Given the description of an element on the screen output the (x, y) to click on. 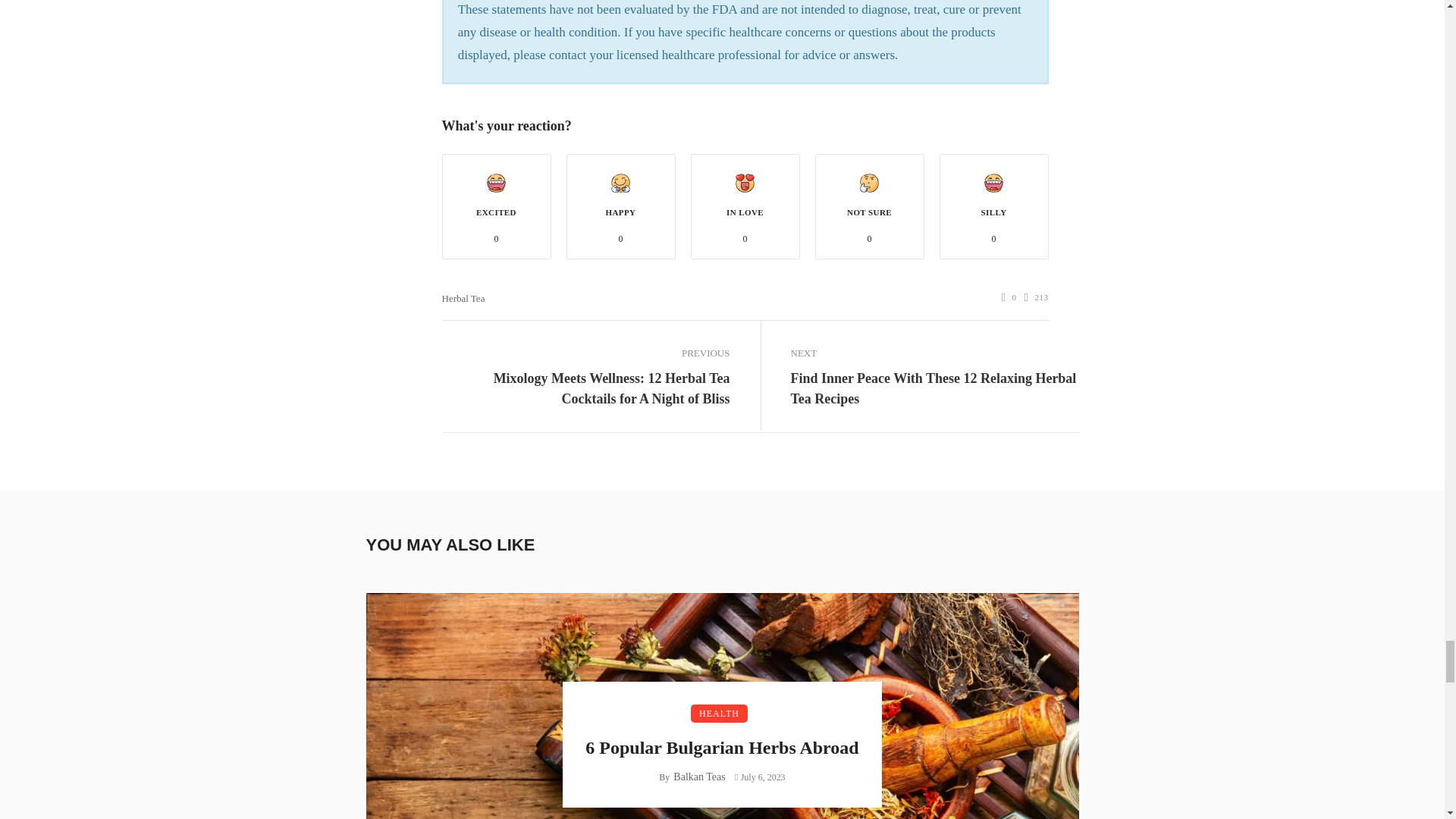
July 6, 2023 at 7:45 pm (760, 777)
